Given the description of an element on the screen output the (x, y) to click on. 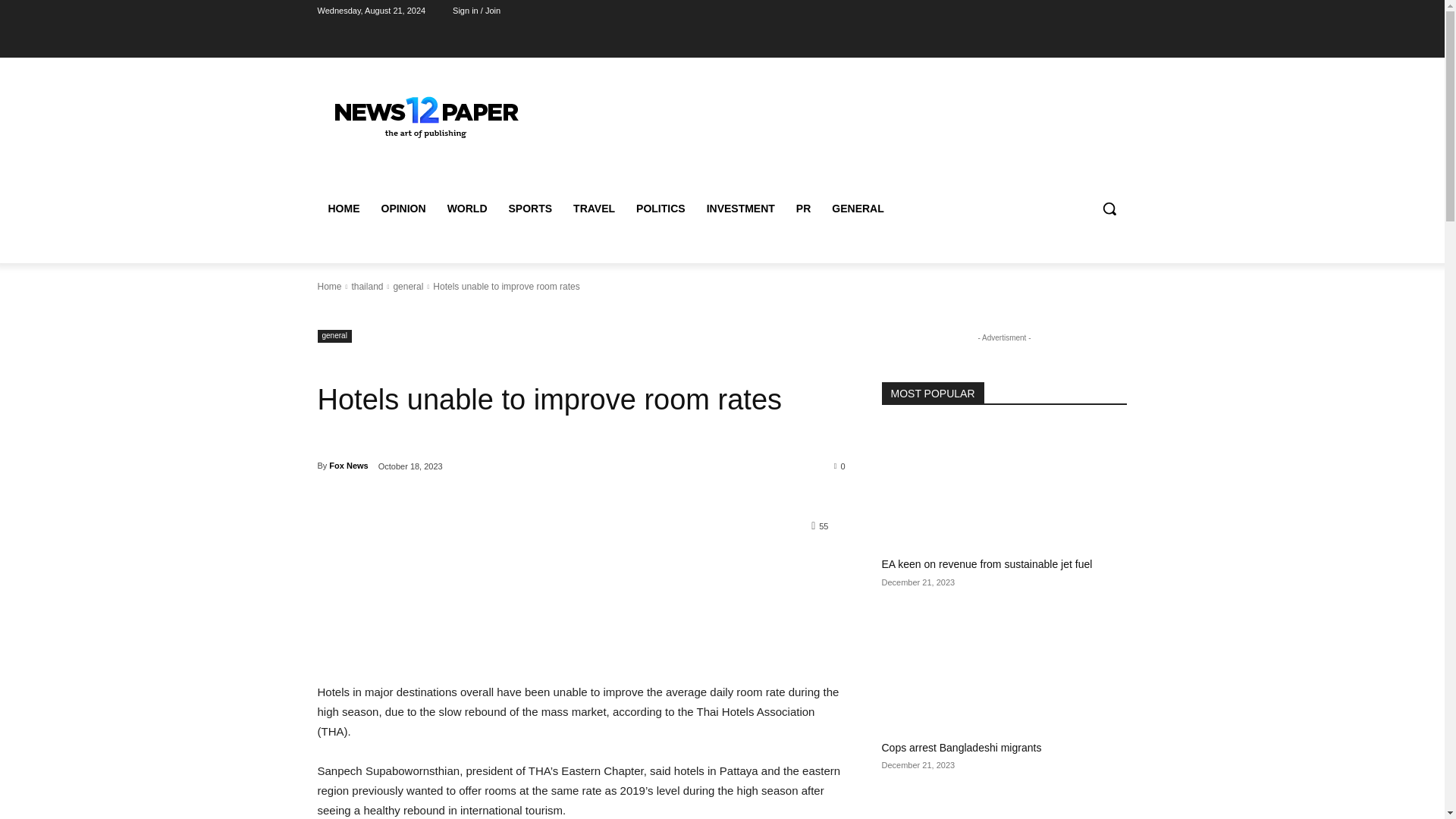
View all posts in general (408, 286)
GENERAL (857, 208)
general (333, 336)
View all posts in thailand (366, 286)
POLITICS (660, 208)
Home (328, 286)
INVESTMENT (740, 208)
general (408, 286)
TRAVEL (594, 208)
OPINION (402, 208)
